Given the description of an element on the screen output the (x, y) to click on. 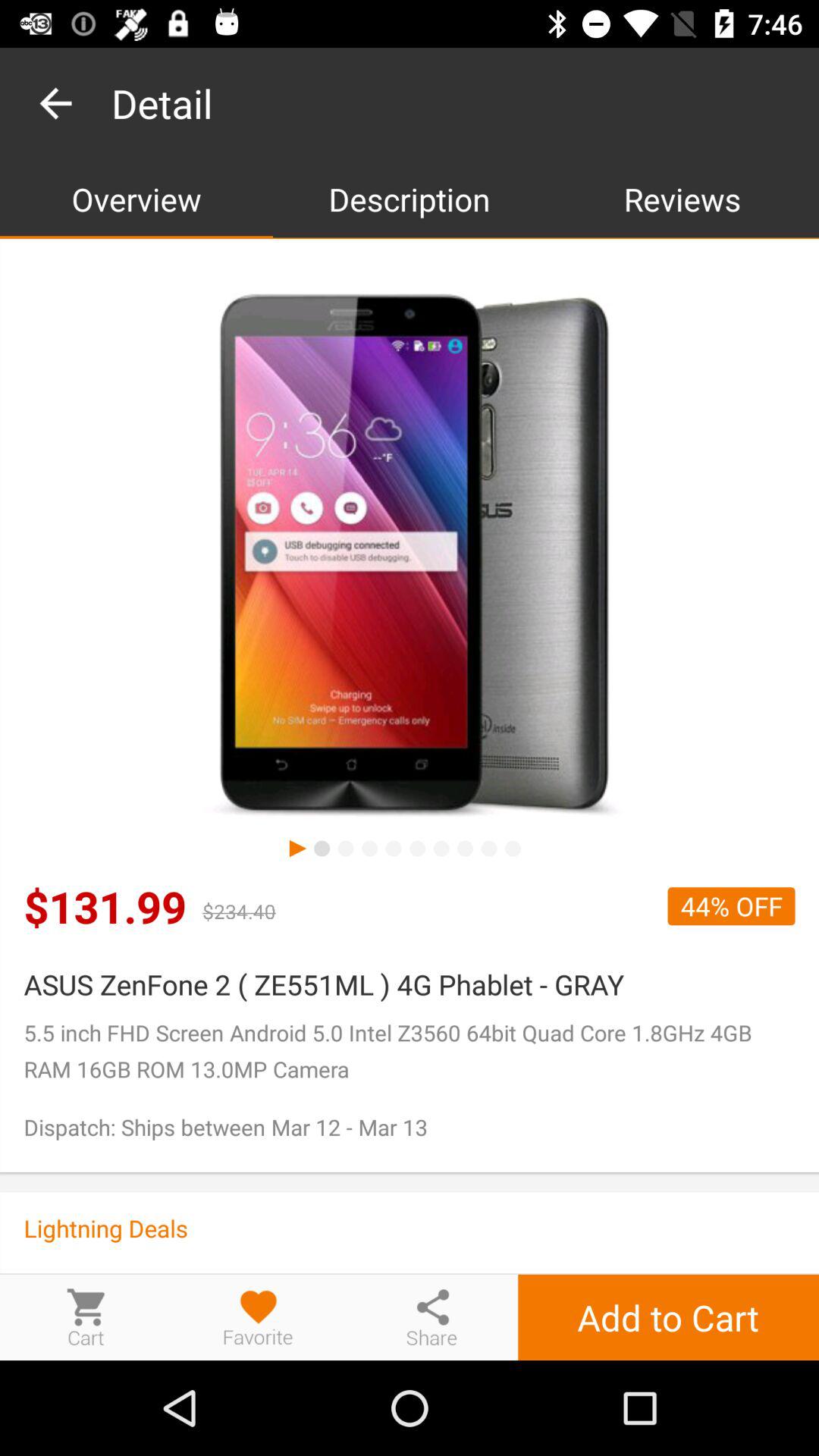
select the item next to reviews app (409, 198)
